Given the description of an element on the screen output the (x, y) to click on. 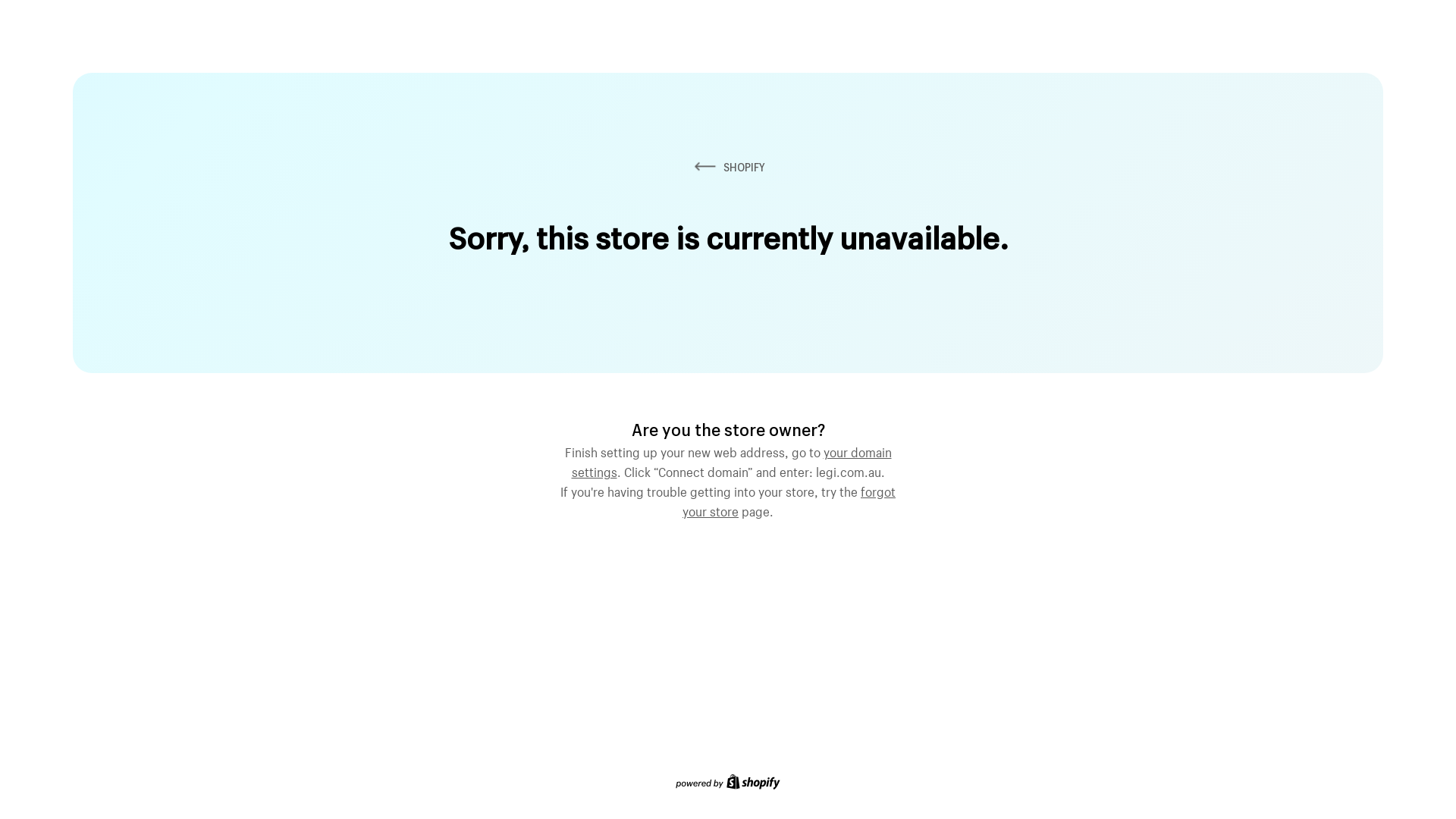
SHOPIFY Element type: text (727, 167)
your domain settings Element type: text (731, 460)
forgot your store Element type: text (788, 499)
